Given the description of an element on the screen output the (x, y) to click on. 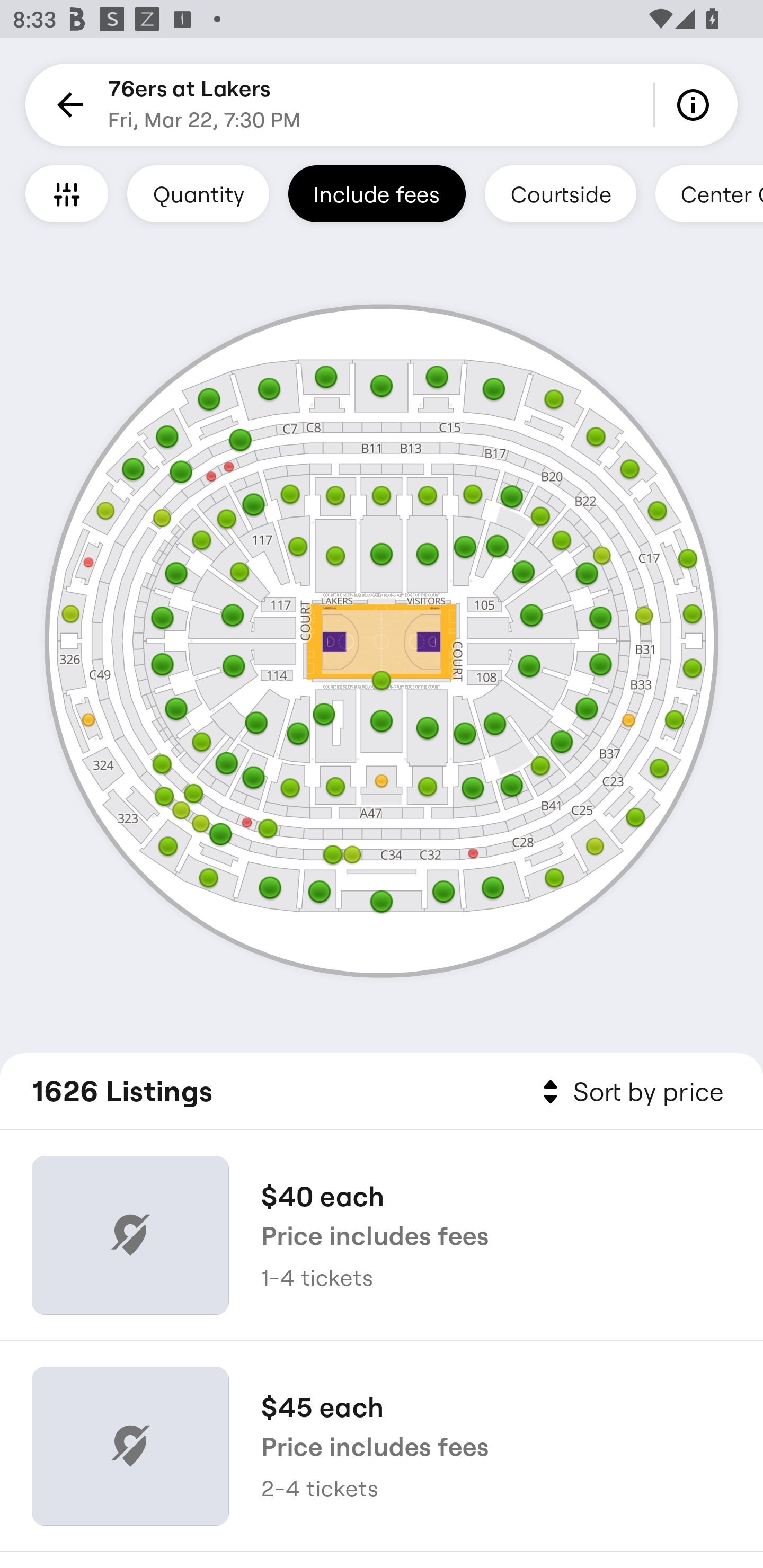
Back (66, 104)
76ers at Lakers Fri, Mar 22, 7:30 PM (204, 104)
Info (695, 104)
Filters and Accessible Seating (66, 193)
Quantity (198, 193)
Include fees (376, 193)
Courtside (560, 193)
Sort by price (629, 1091)
$40 each Price includes fees 1-4 tickets (381, 1235)
$45 each Price includes fees 2-4 tickets (381, 1446)
